Given the description of an element on the screen output the (x, y) to click on. 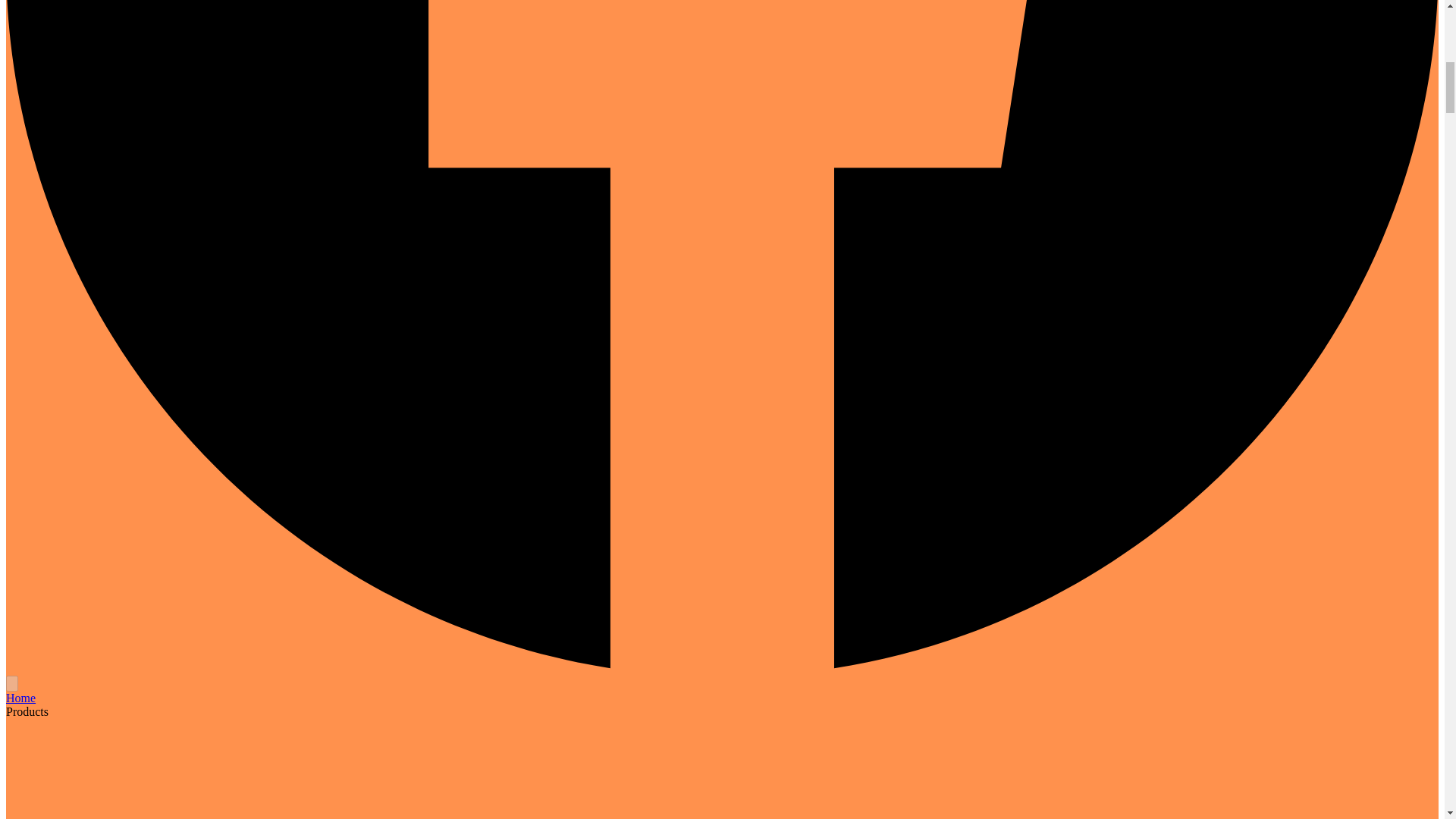
Home (19, 697)
